Given the description of an element on the screen output the (x, y) to click on. 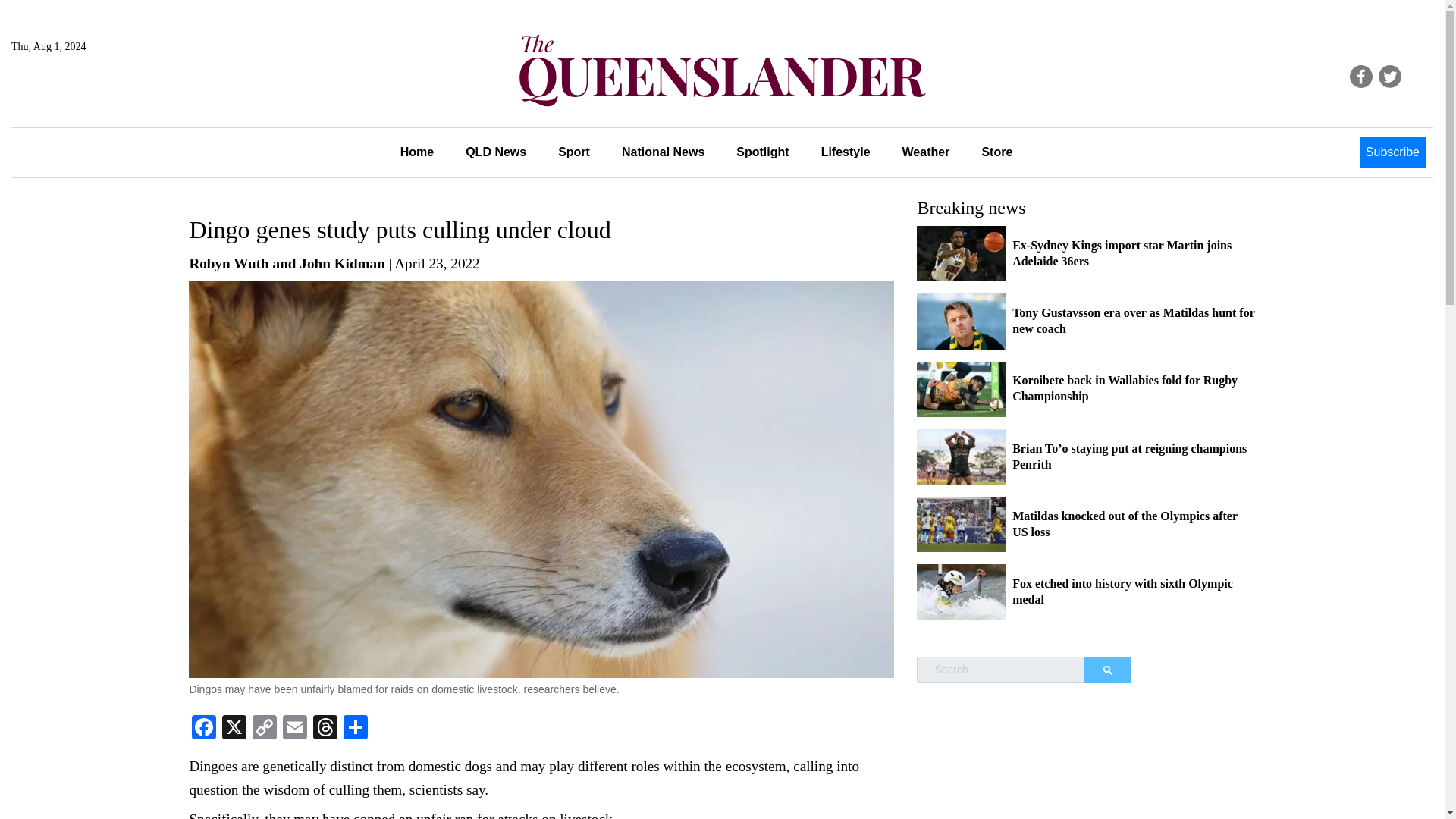
Search (1107, 669)
Copy Link (263, 728)
Threads (325, 728)
Facebook (204, 728)
Advertisement (1086, 769)
Share (355, 728)
X (233, 728)
QLD News (495, 152)
Copy Link (263, 728)
Ex-Sydney Kings import star Martin joins Adelaide 36ers (1121, 253)
Email (294, 728)
Tony Gustavsson era over as Matildas hunt for new coach (1132, 320)
Email (294, 728)
Brisbane Forecast (84, 97)
Threads (325, 728)
